Given the description of an element on the screen output the (x, y) to click on. 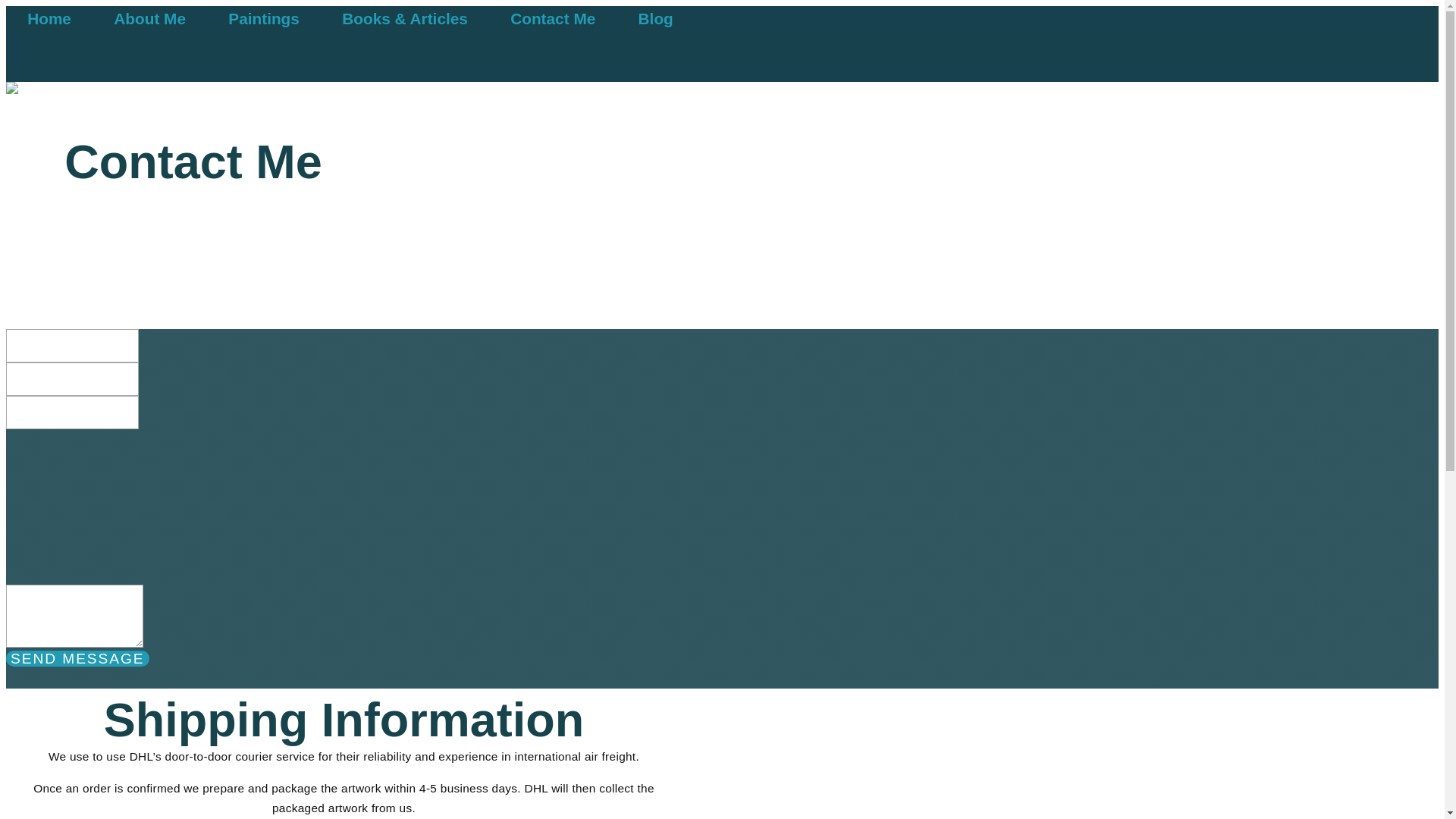
Blog (655, 18)
Paintings (263, 18)
Contact Me (553, 18)
SEND MESSAGE (77, 658)
About Me (149, 18)
Home (49, 18)
